Given the description of an element on the screen output the (x, y) to click on. 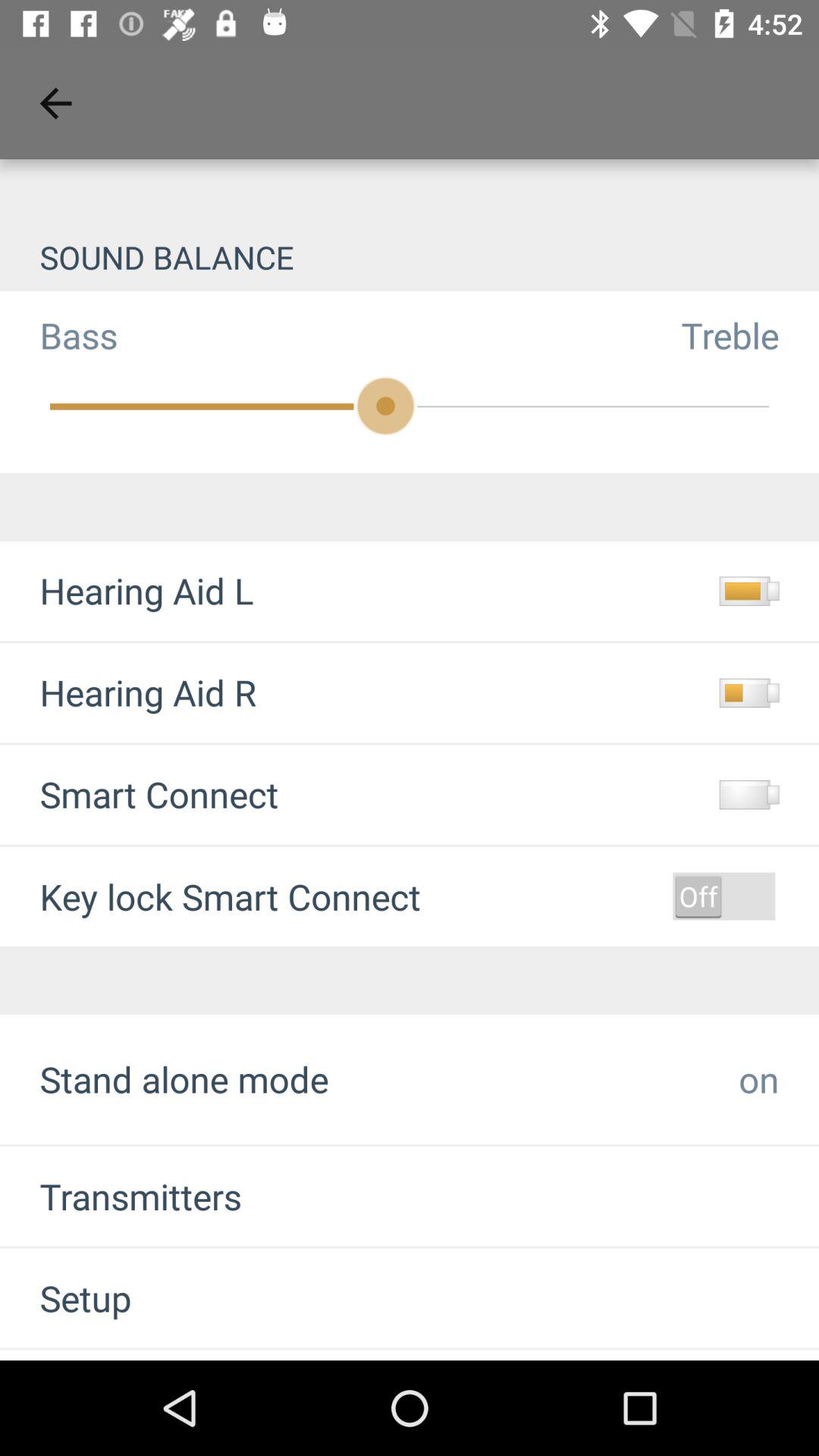
click the stand alone mode icon (183, 1078)
